Given the description of an element on the screen output the (x, y) to click on. 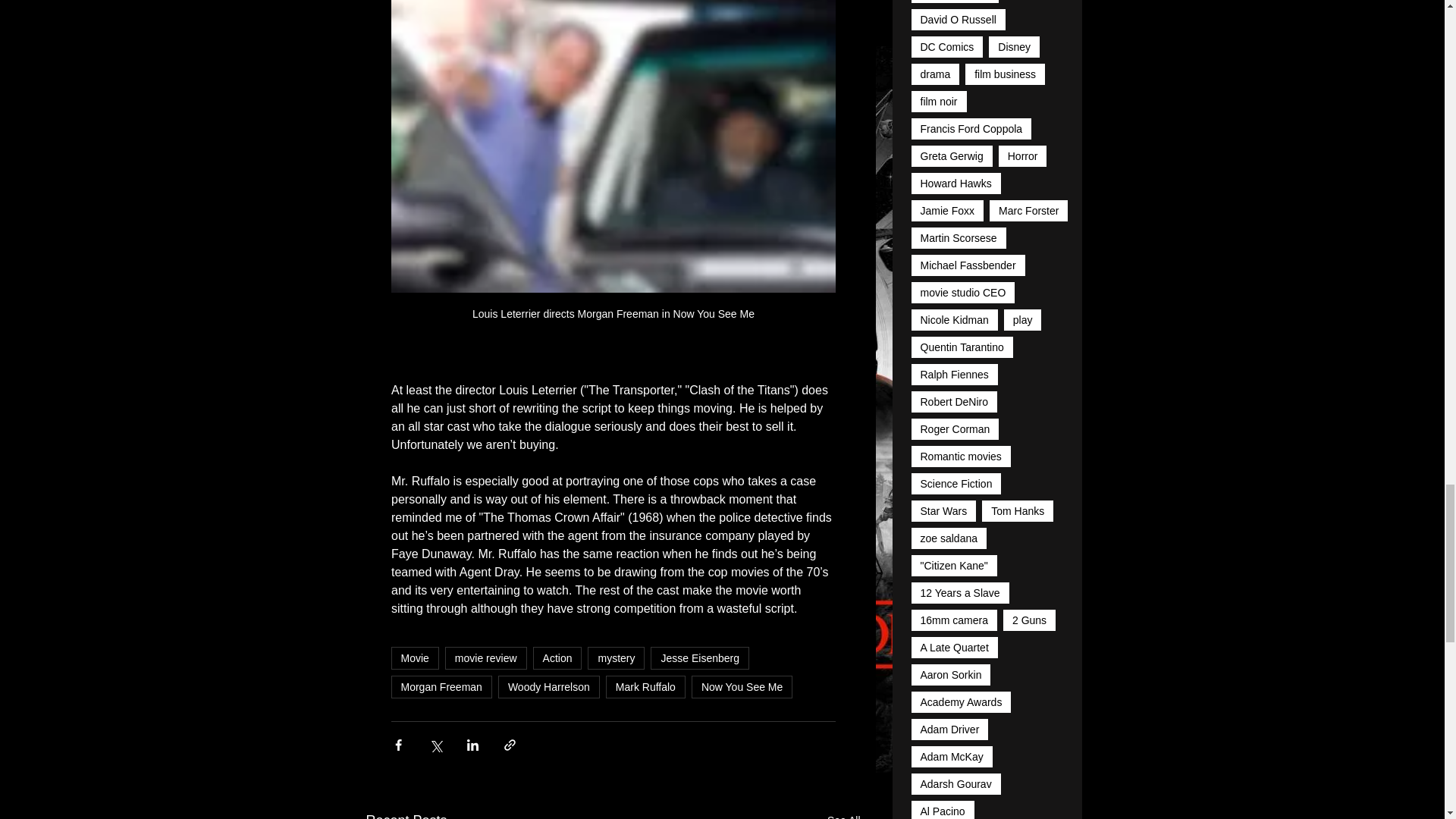
movie review (486, 658)
Movie (415, 658)
Mark Ruffalo (645, 686)
See All (843, 814)
mystery (616, 658)
Woody Harrelson (548, 686)
Action (557, 658)
Jesse Eisenberg (699, 658)
Morgan Freeman (441, 686)
Now You See Me (741, 686)
